Given the description of an element on the screen output the (x, y) to click on. 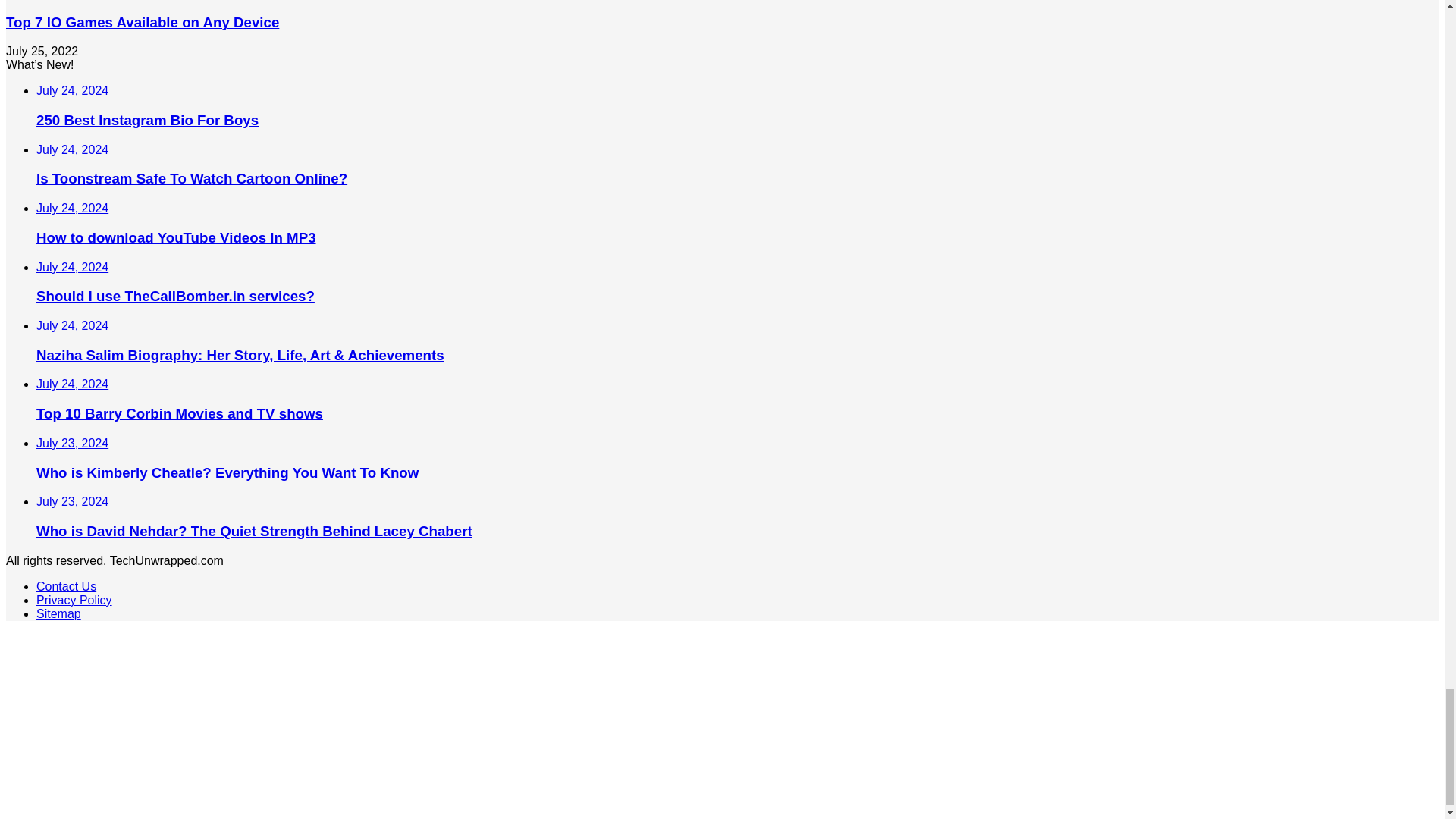
Contact Us (66, 585)
Sitemap (58, 613)
Privacy Policy (74, 599)
Top 7 IO Games Available on Any Device (142, 22)
